Given the description of an element on the screen output the (x, y) to click on. 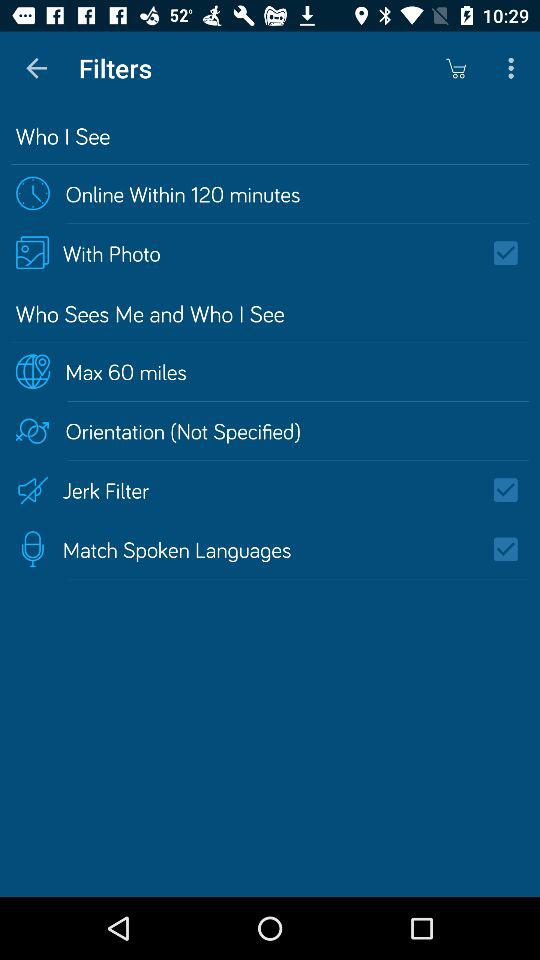
filter has been selected (512, 549)
